Given the description of an element on the screen output the (x, y) to click on. 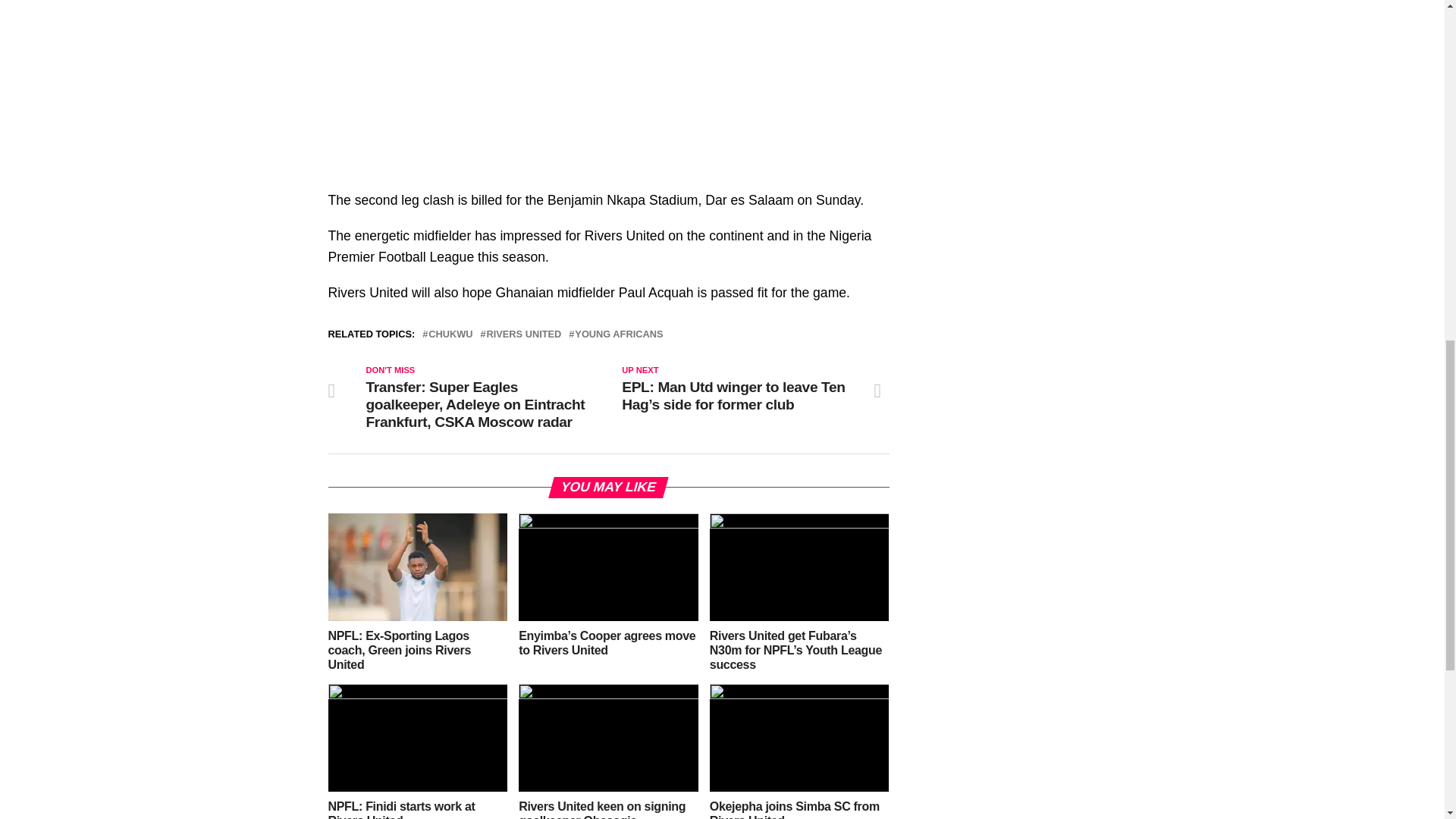
YOUNG AFRICANS (618, 334)
RIVERS UNITED (524, 334)
CHUKWU (449, 334)
